Given the description of an element on the screen output the (x, y) to click on. 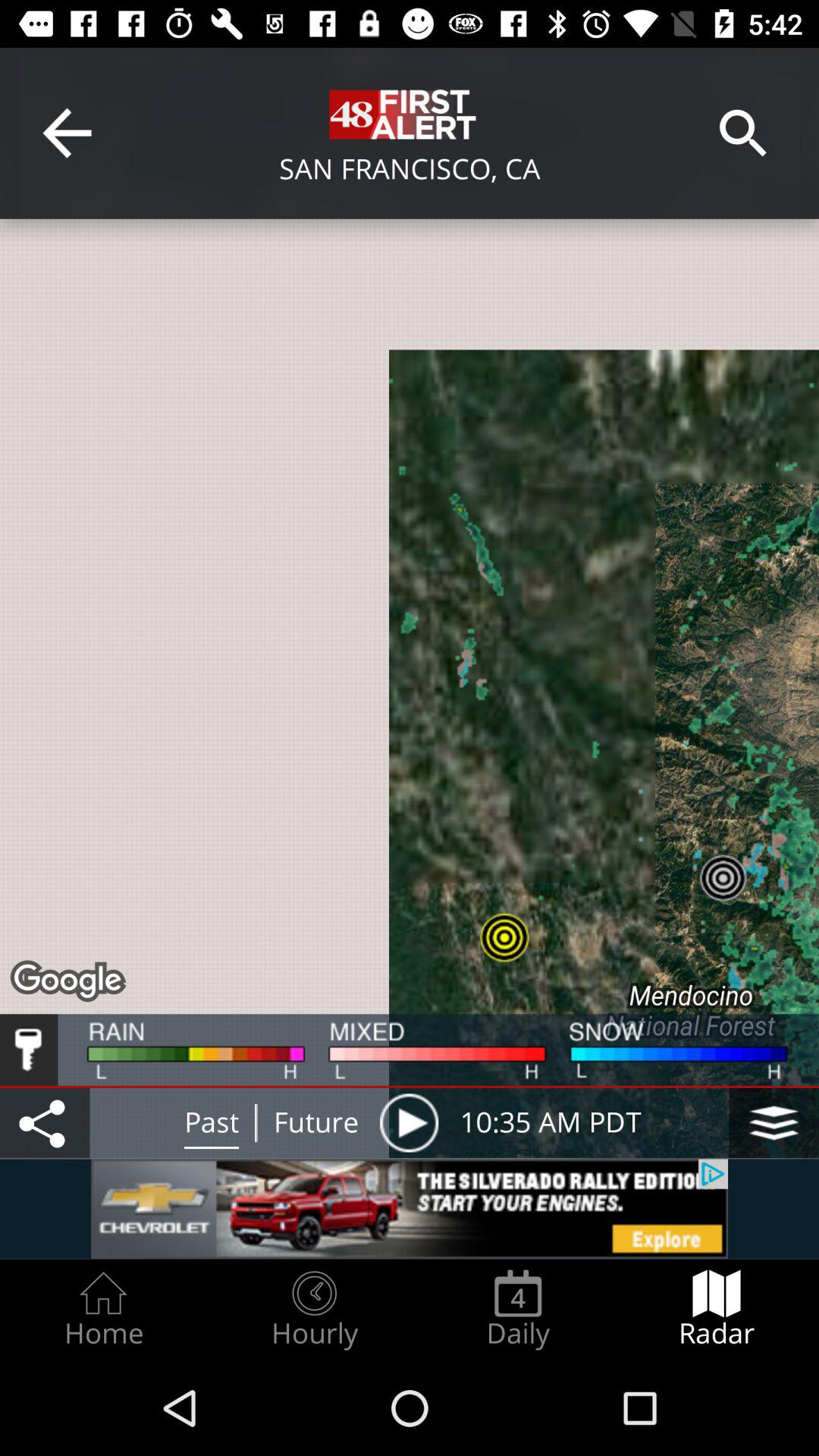
open item to the left of the daily icon (314, 1309)
